Given the description of an element on the screen output the (x, y) to click on. 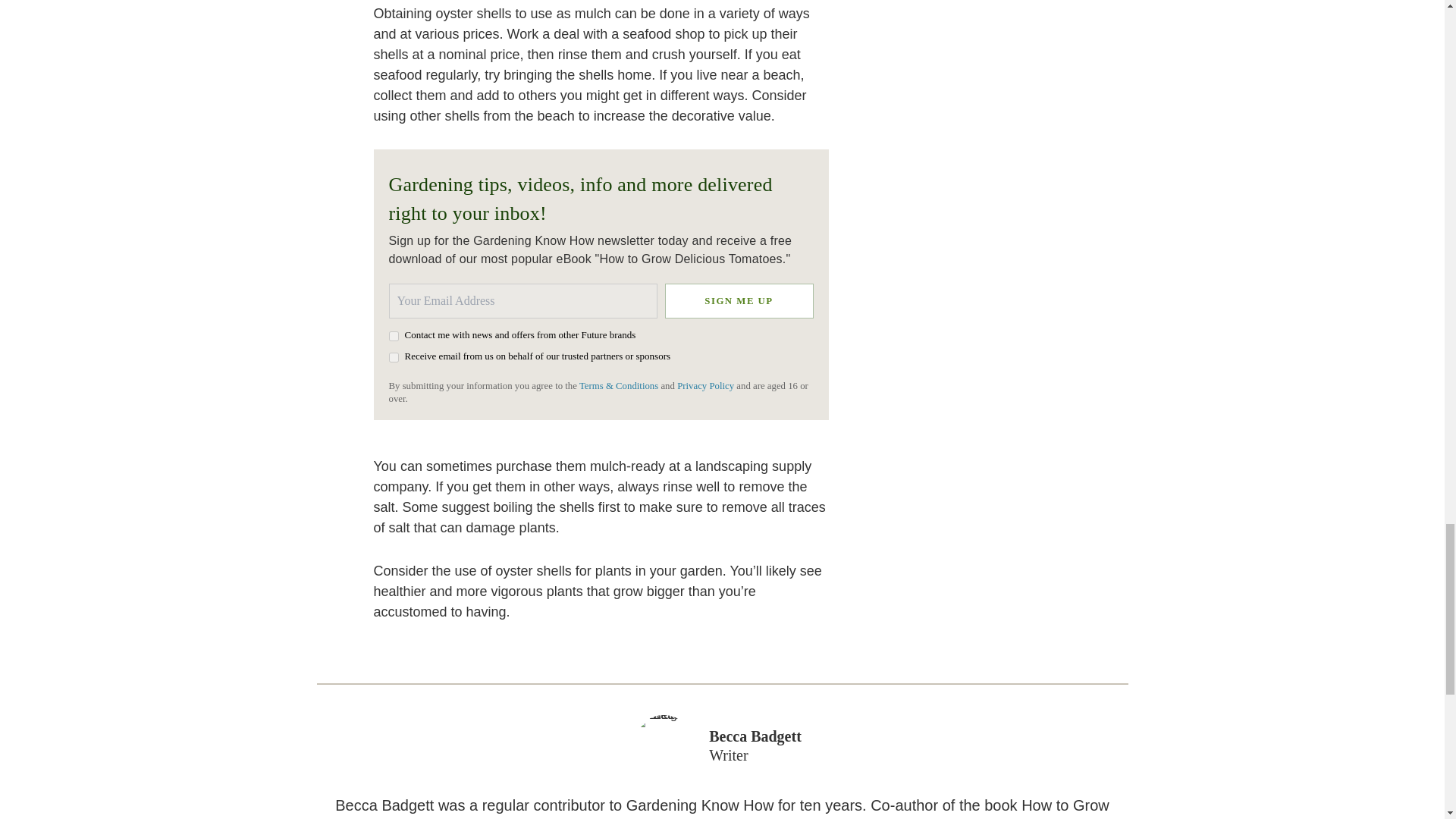
Sign me up (737, 300)
on (392, 336)
on (392, 357)
